Given the description of an element on the screen output the (x, y) to click on. 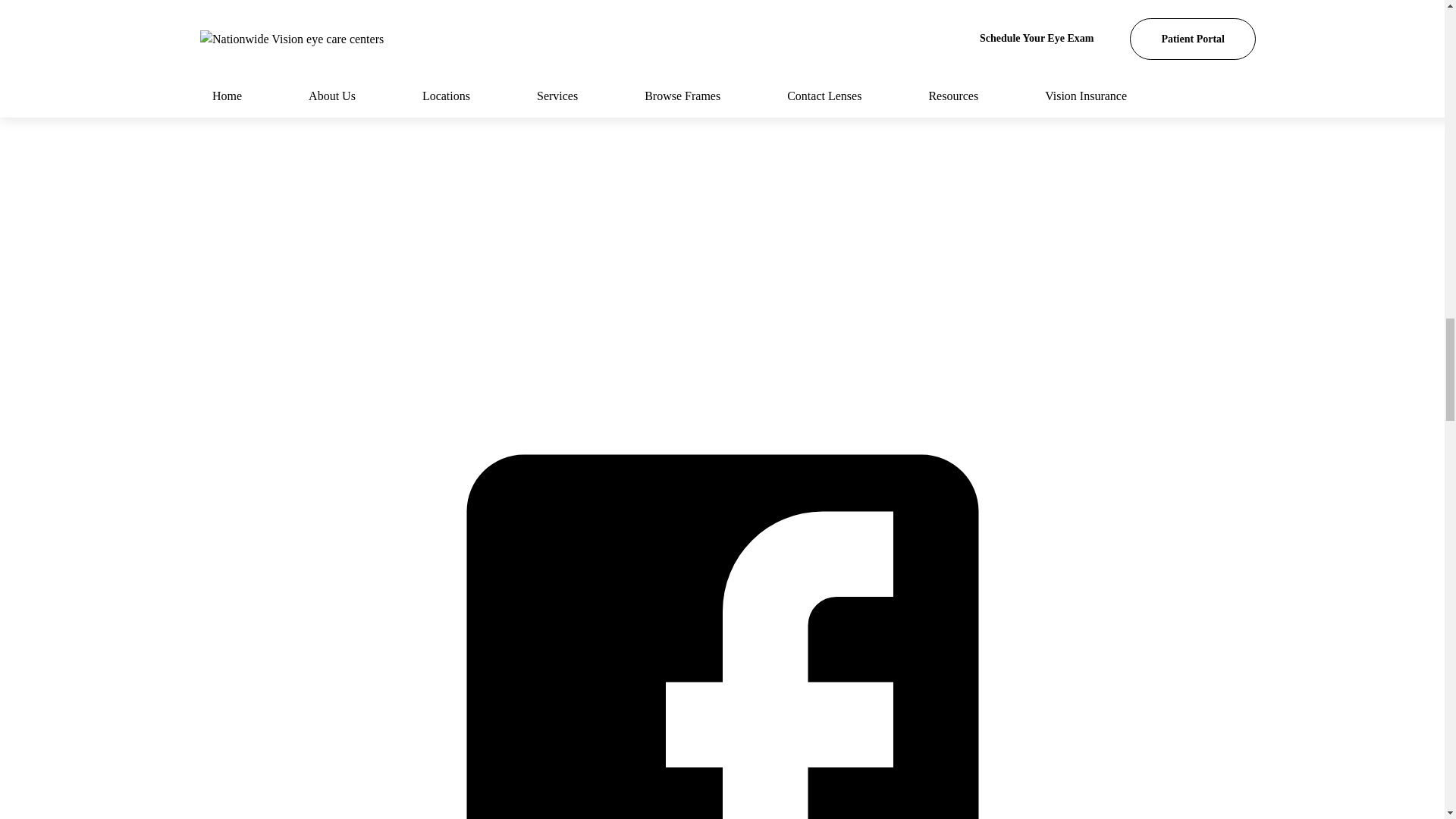
No Surprise Act (747, 246)
Contact Us (460, 246)
All Locations (597, 246)
Privacy Policy (624, 284)
Notice of Privacy Practice (936, 246)
Terms and Conditions (796, 284)
